Given the description of an element on the screen output the (x, y) to click on. 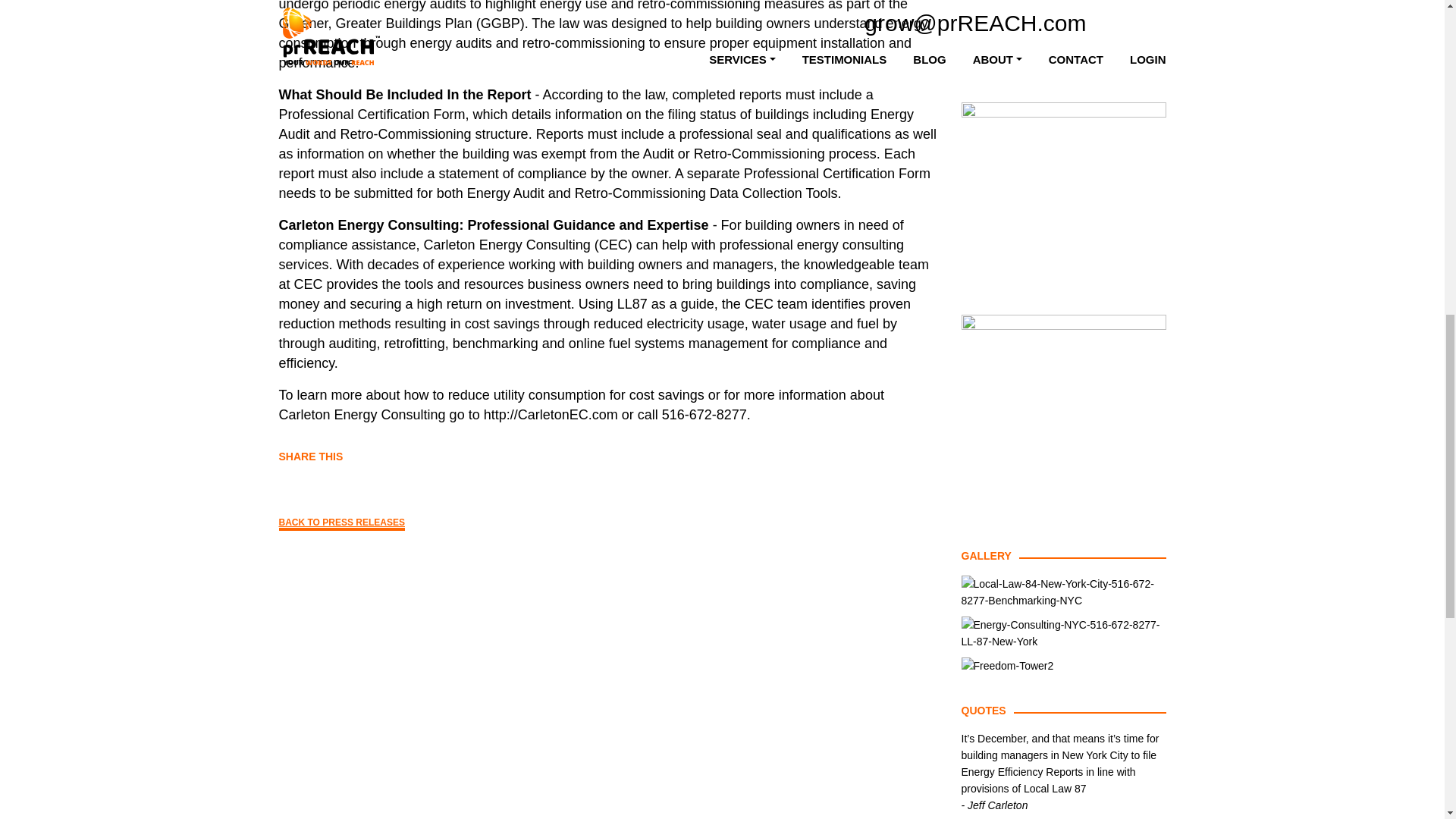
BACK TO PRESS RELEASES (341, 523)
